Given the description of an element on the screen output the (x, y) to click on. 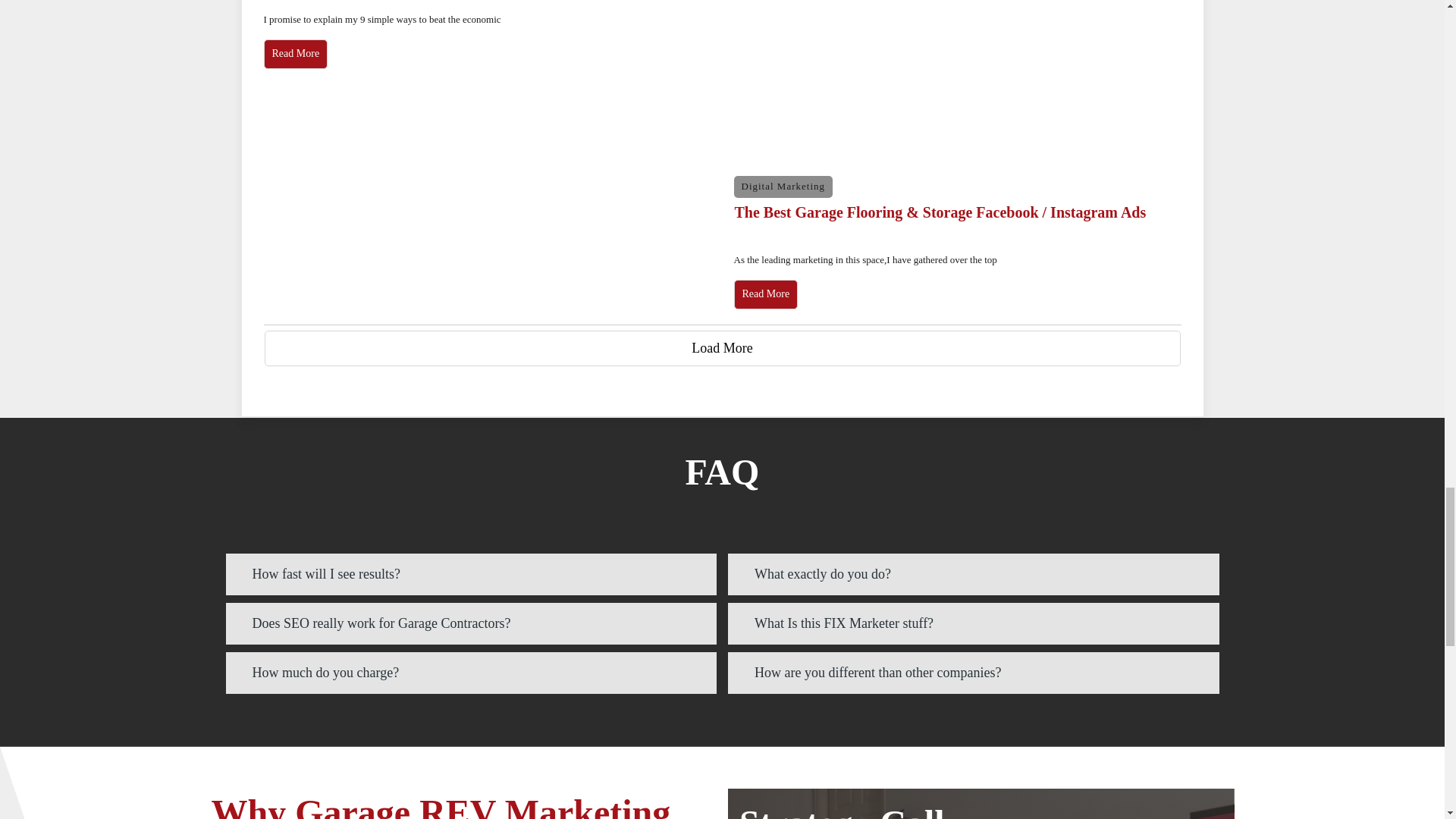
Load More (721, 348)
Digital Marketing (783, 185)
Read More (296, 53)
Read More (765, 294)
Digital Marketing (783, 185)
